Given the description of an element on the screen output the (x, y) to click on. 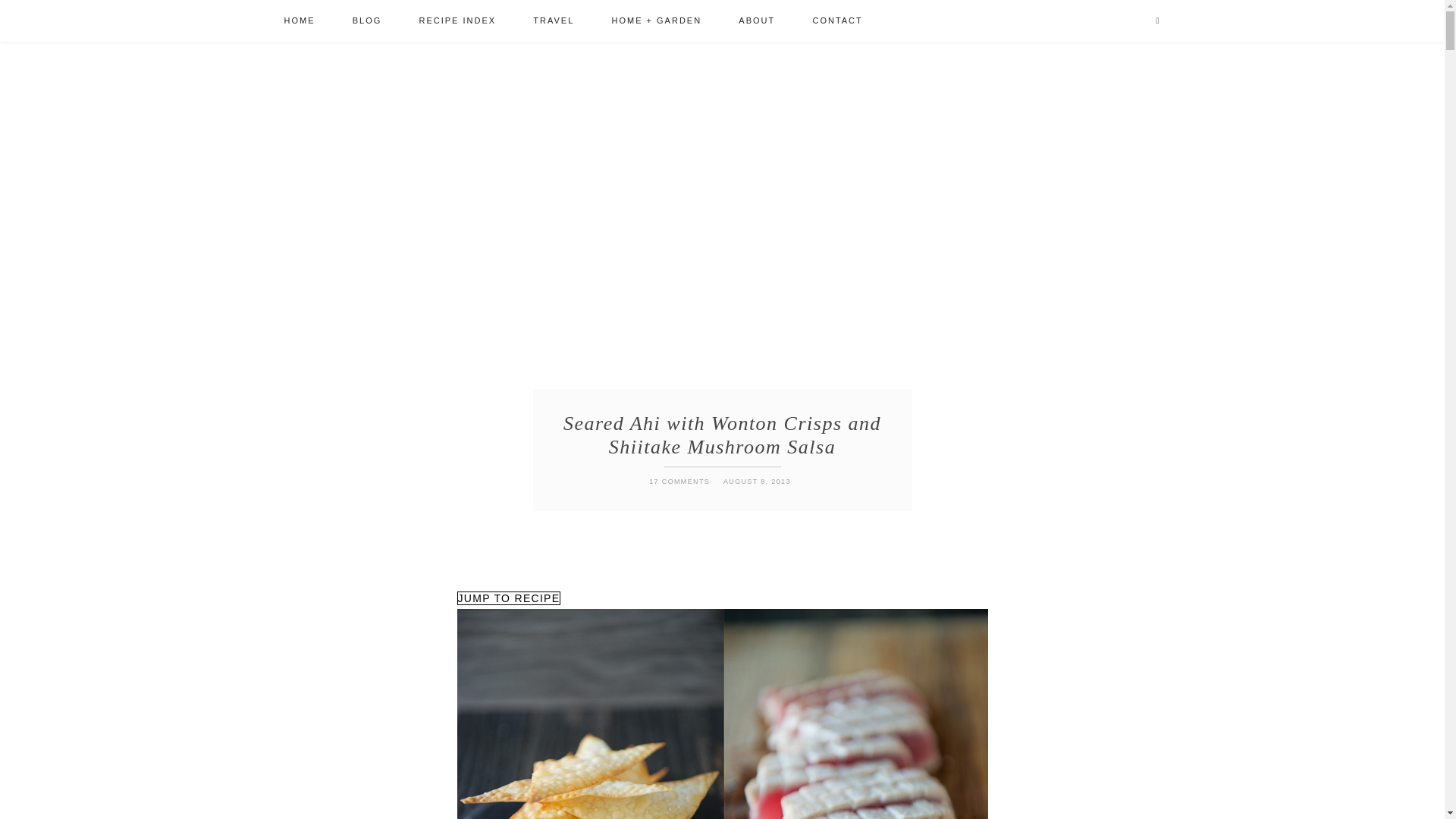
RECIPE INDEX (456, 20)
TRAVEL (553, 20)
HOME (298, 20)
ABOUT (757, 20)
CONTACT (836, 20)
JUMP TO RECIPE (508, 598)
BLOG (367, 20)
17 COMMENTS (679, 482)
